Given the description of an element on the screen output the (x, y) to click on. 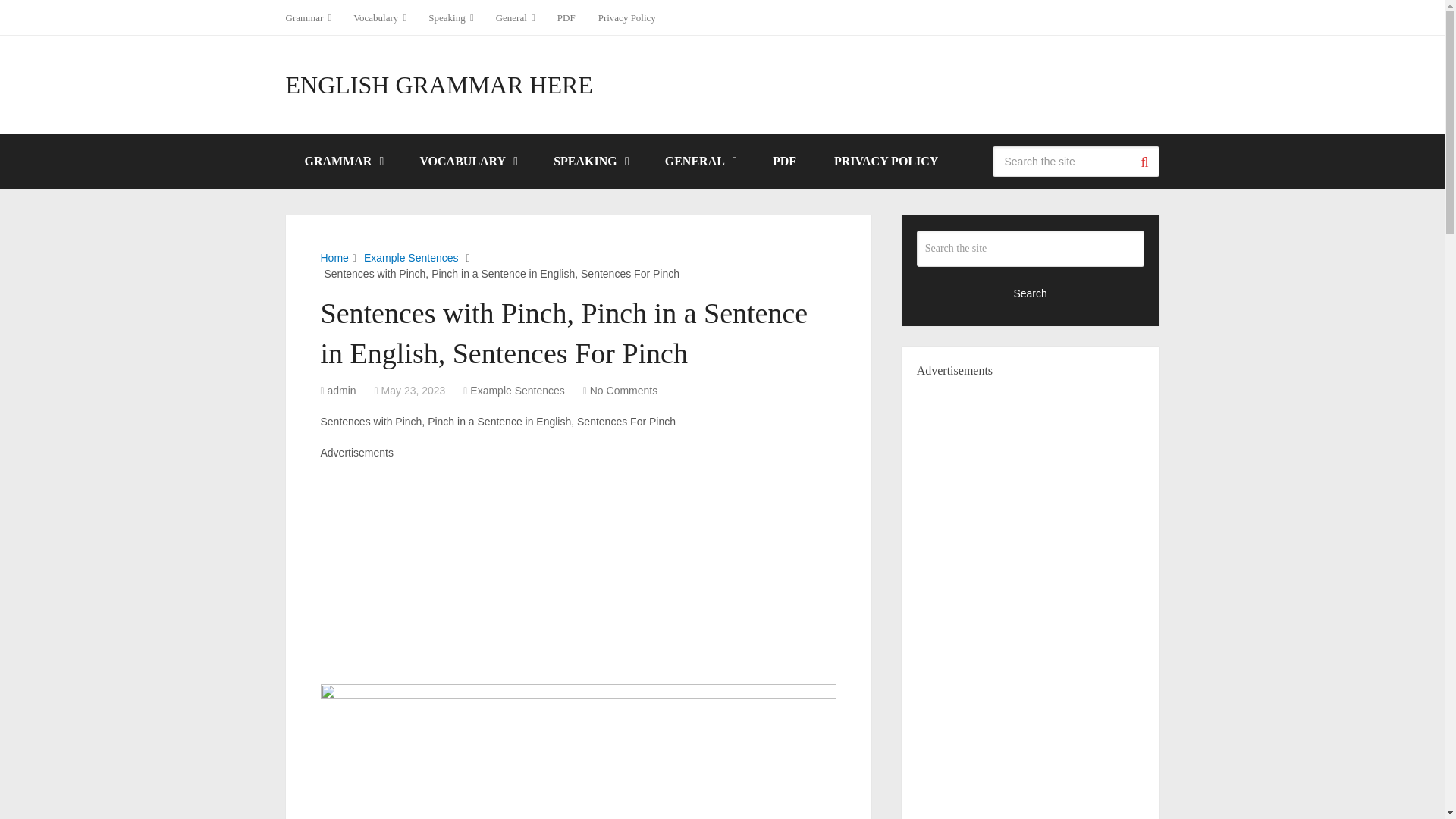
Vocabulary (379, 17)
Privacy Policy (626, 17)
General (515, 17)
Speaking (449, 17)
Posts by admin (341, 390)
PDF (566, 17)
Grammar (313, 17)
View all posts in Example Sentences (517, 390)
Advertisement (577, 567)
